Given the description of an element on the screen output the (x, y) to click on. 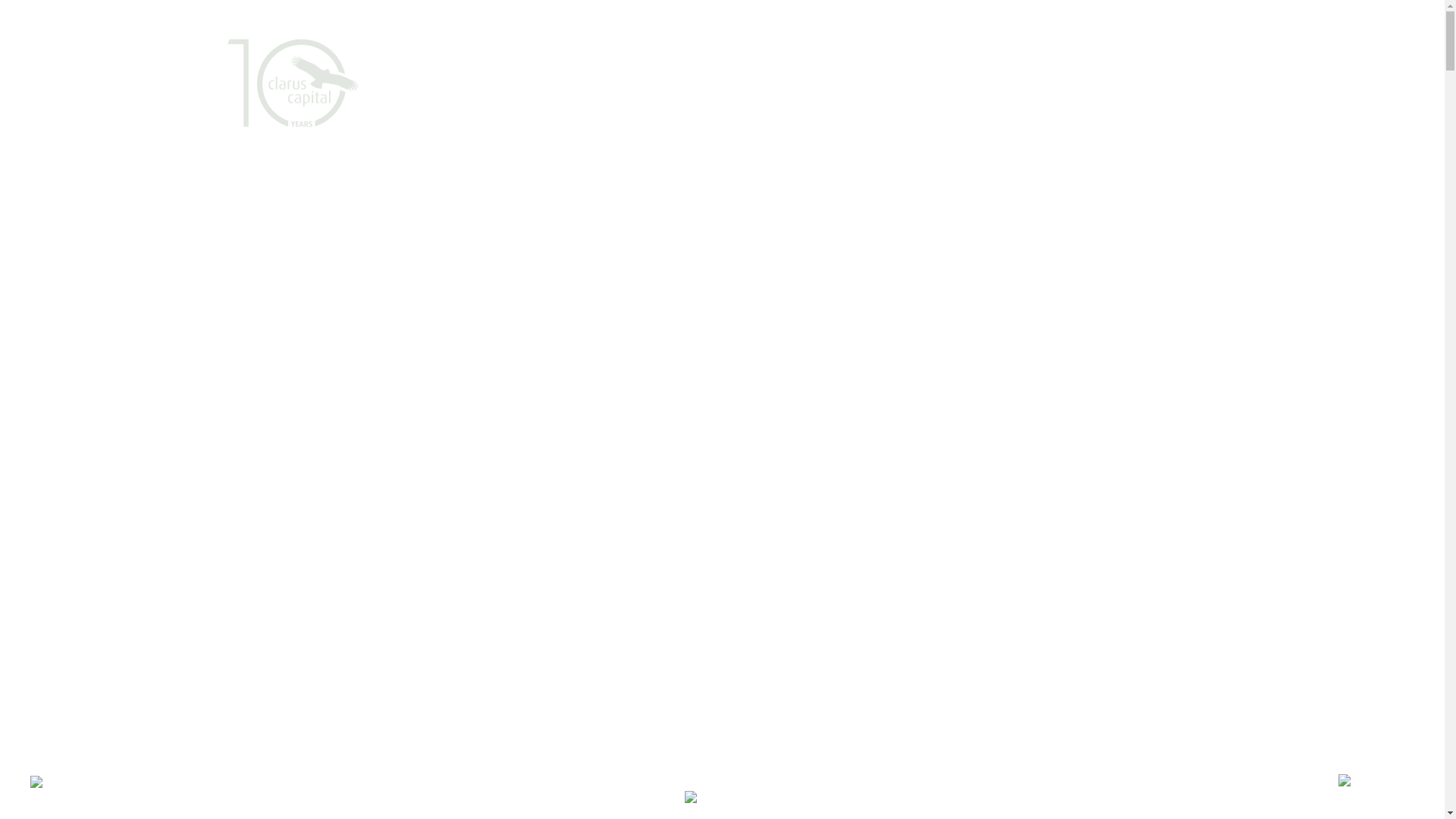
DE Element type: text (1210, 15)
Dienstleistungen Element type: text (563, 90)
Kontakt Element type: text (1009, 90)
Blog/Vlog Element type: text (735, 90)
EN Element type: text (1239, 15)
